Given the description of an element on the screen output the (x, y) to click on. 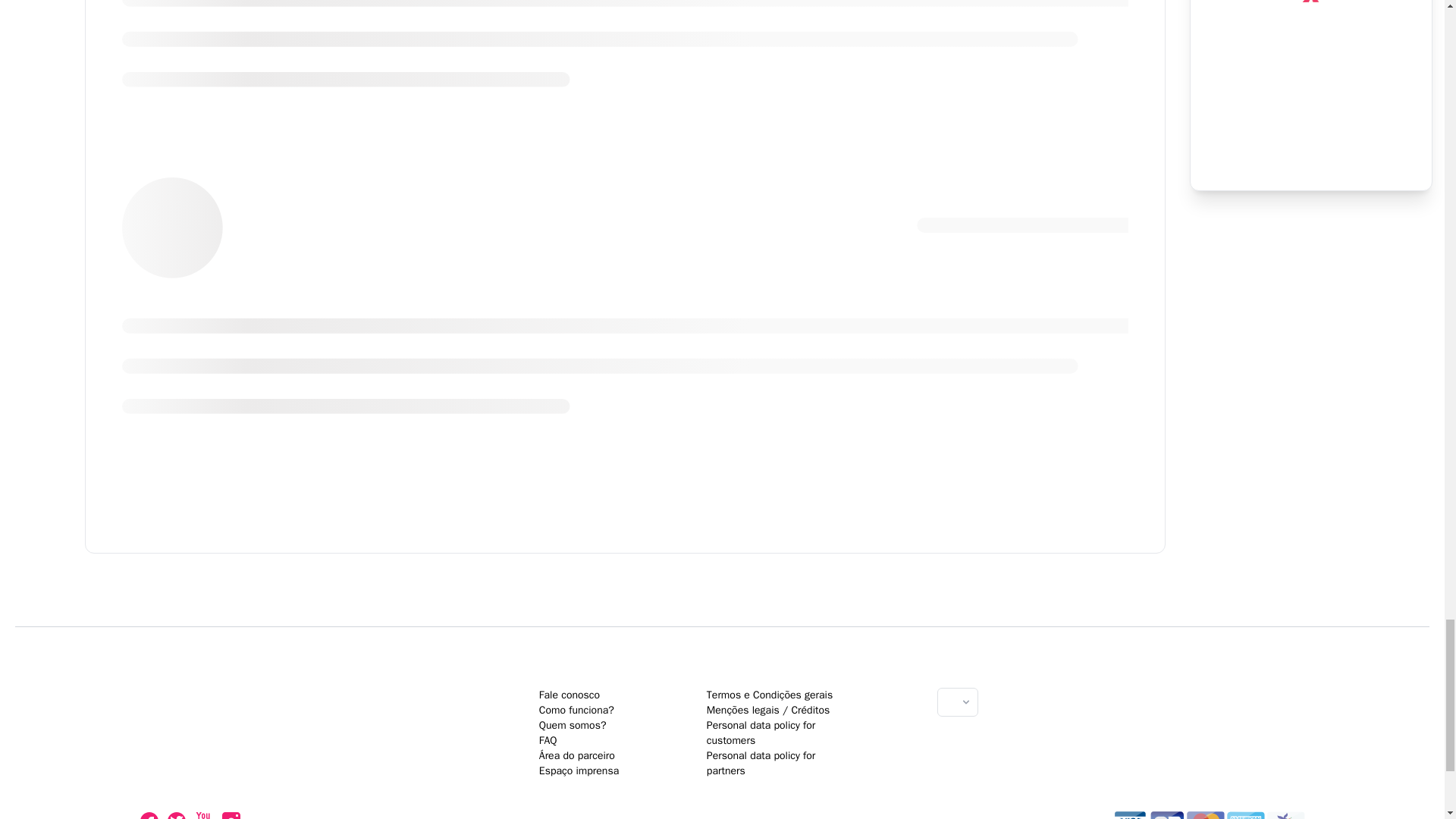
FAQ (547, 739)
Como funciona? (576, 709)
Fale conosco (568, 694)
Quem somos? (572, 725)
